Given the description of an element on the screen output the (x, y) to click on. 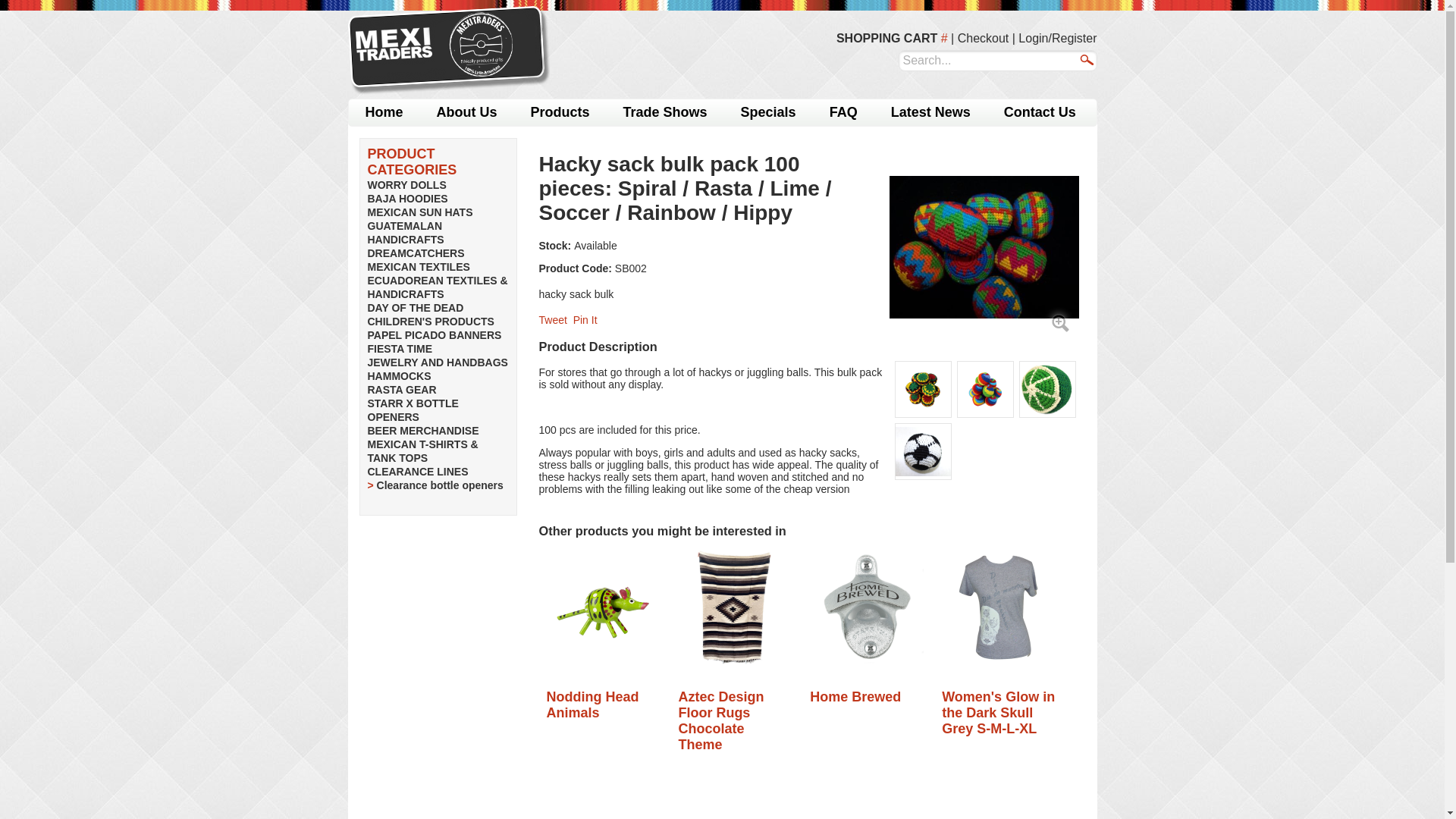
GUATEMALAN HANDICRAFTS (405, 232)
Tweet (552, 319)
DAY OF THE DEAD (414, 307)
MEXICAN TEXTILES (417, 266)
JEWELRY AND HANDBAGS (436, 362)
Clearance bottle openers (440, 485)
Products (560, 112)
PAPEL PICADO BANNERS (433, 335)
BAJA HOODIES (406, 198)
Latest News (931, 112)
Checkout (983, 38)
CHILDREN'S PRODUCTS (429, 321)
FIESTA TIME (399, 348)
Home (384, 112)
DREAMCATCHERS (415, 253)
